Given the description of an element on the screen output the (x, y) to click on. 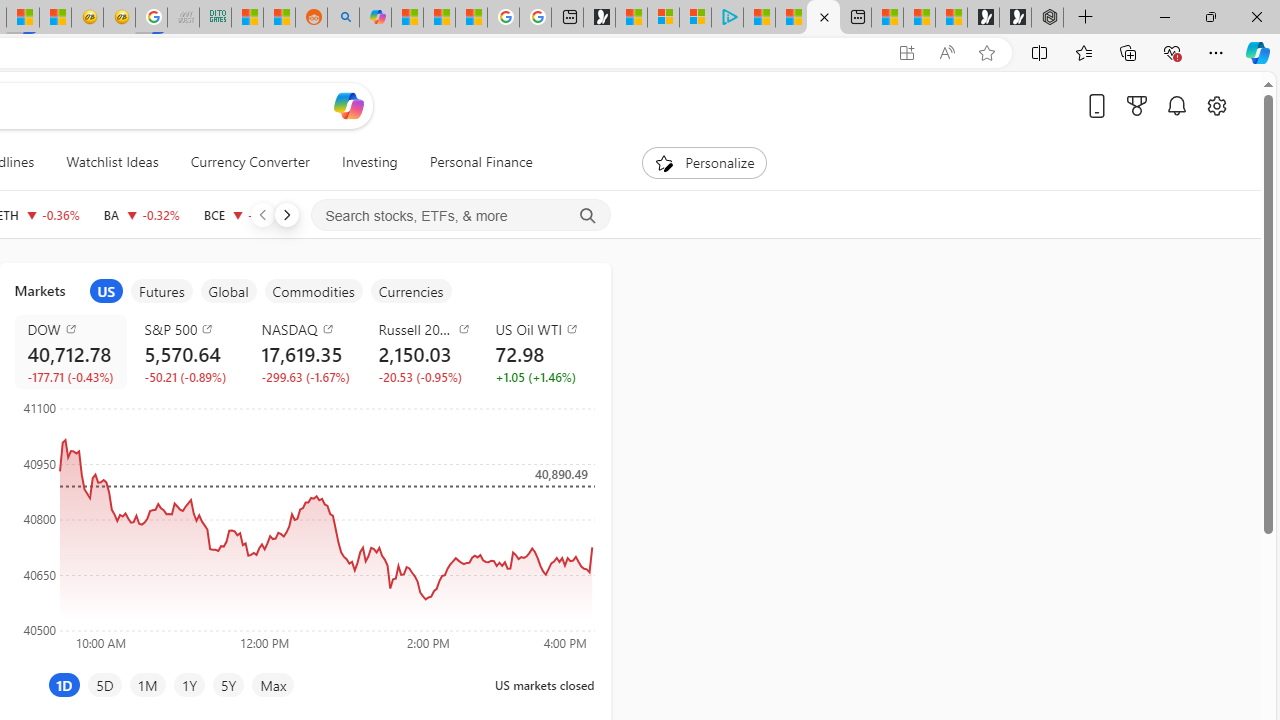
5D (104, 684)
NASDAQ COMP decrease 17,619.35 -299.63 -1.67% (304, 351)
1Y (188, 684)
Search stocks, ETFs, & more (461, 215)
